Given the description of an element on the screen output the (x, y) to click on. 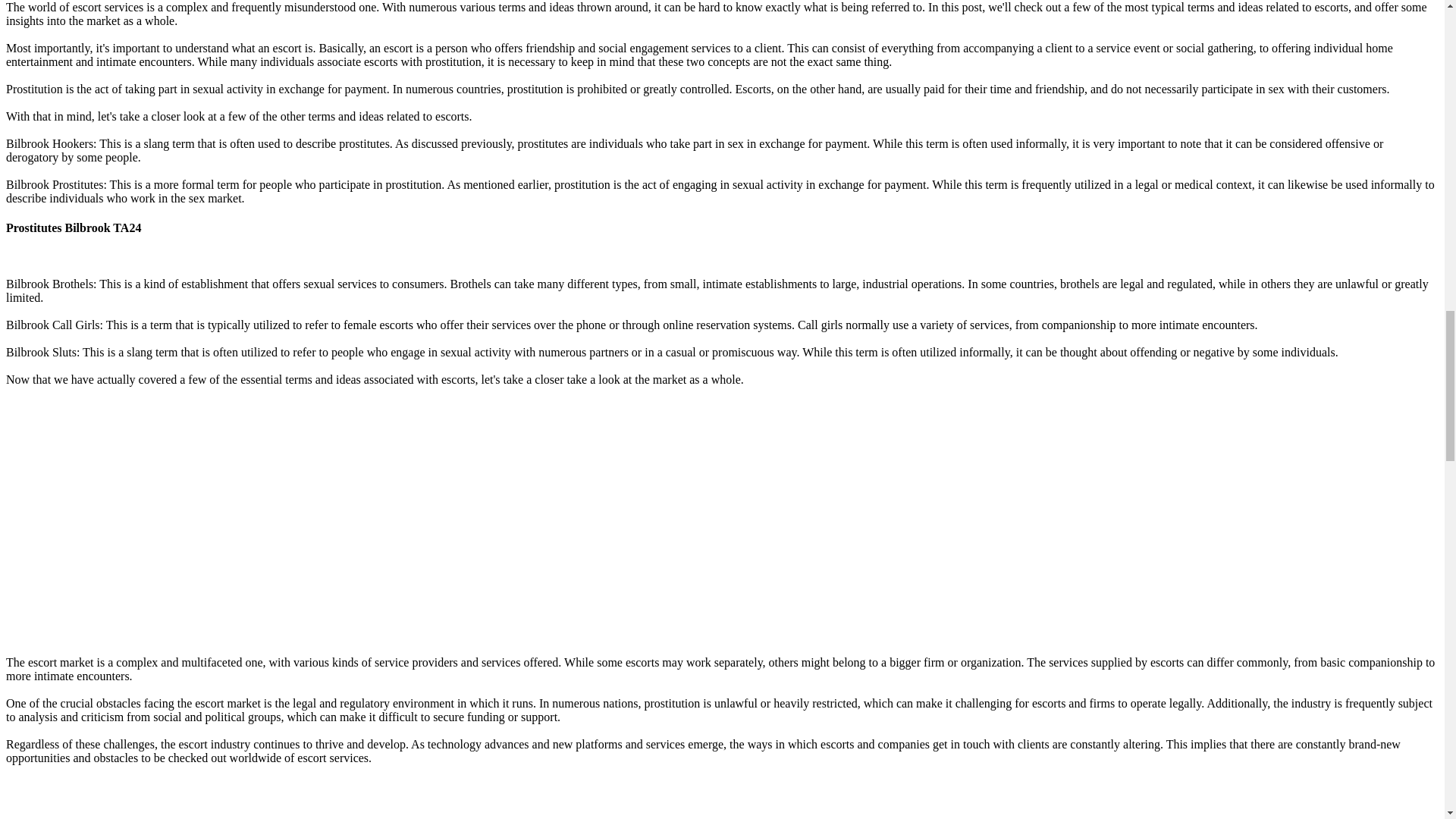
YouTube video player (217, 798)
YouTube video player (217, 519)
